Given the description of an element on the screen output the (x, y) to click on. 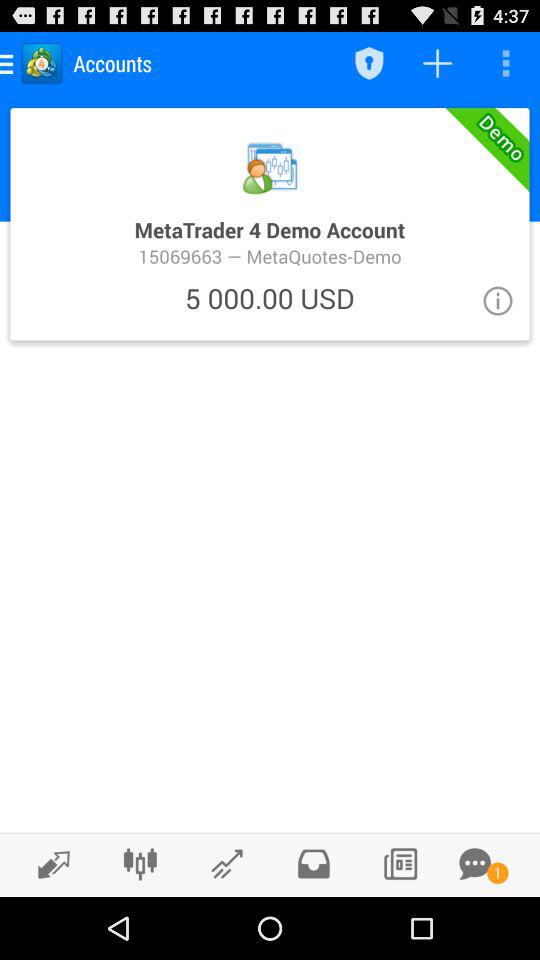
adjust settings (140, 863)
